Given the description of an element on the screen output the (x, y) to click on. 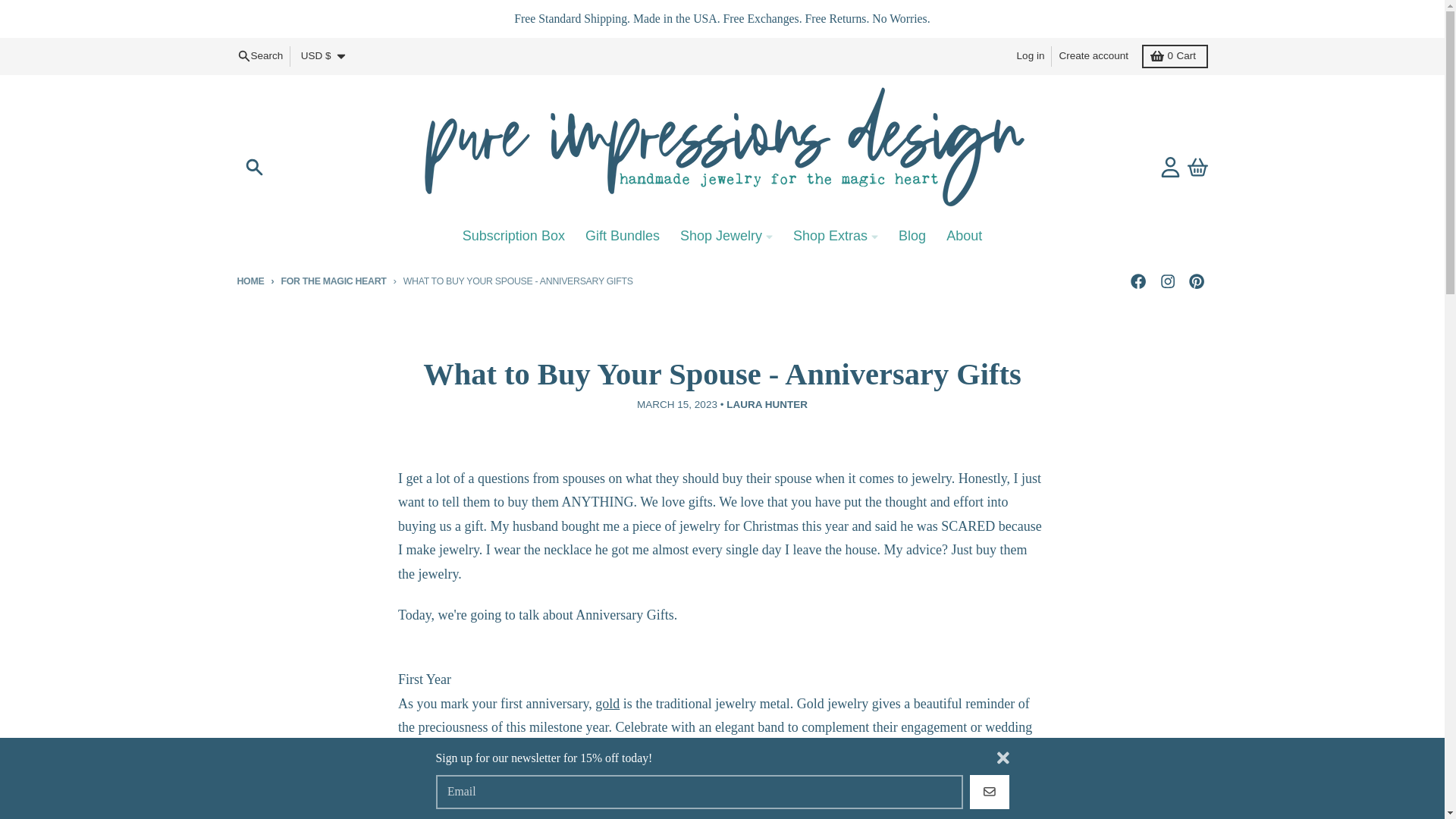
Create account (1093, 55)
GO (989, 791)
Subscription Box (513, 235)
Instagram - Pure Impressions Design (1166, 280)
Log in (1030, 55)
Pinterest - Pure Impressions Design (1196, 280)
Gift Bundles (622, 235)
Search (254, 167)
Facebook - Pure Impressions Design (1174, 55)
Search (1138, 280)
Back to the homepage (259, 55)
